Given the description of an element on the screen output the (x, y) to click on. 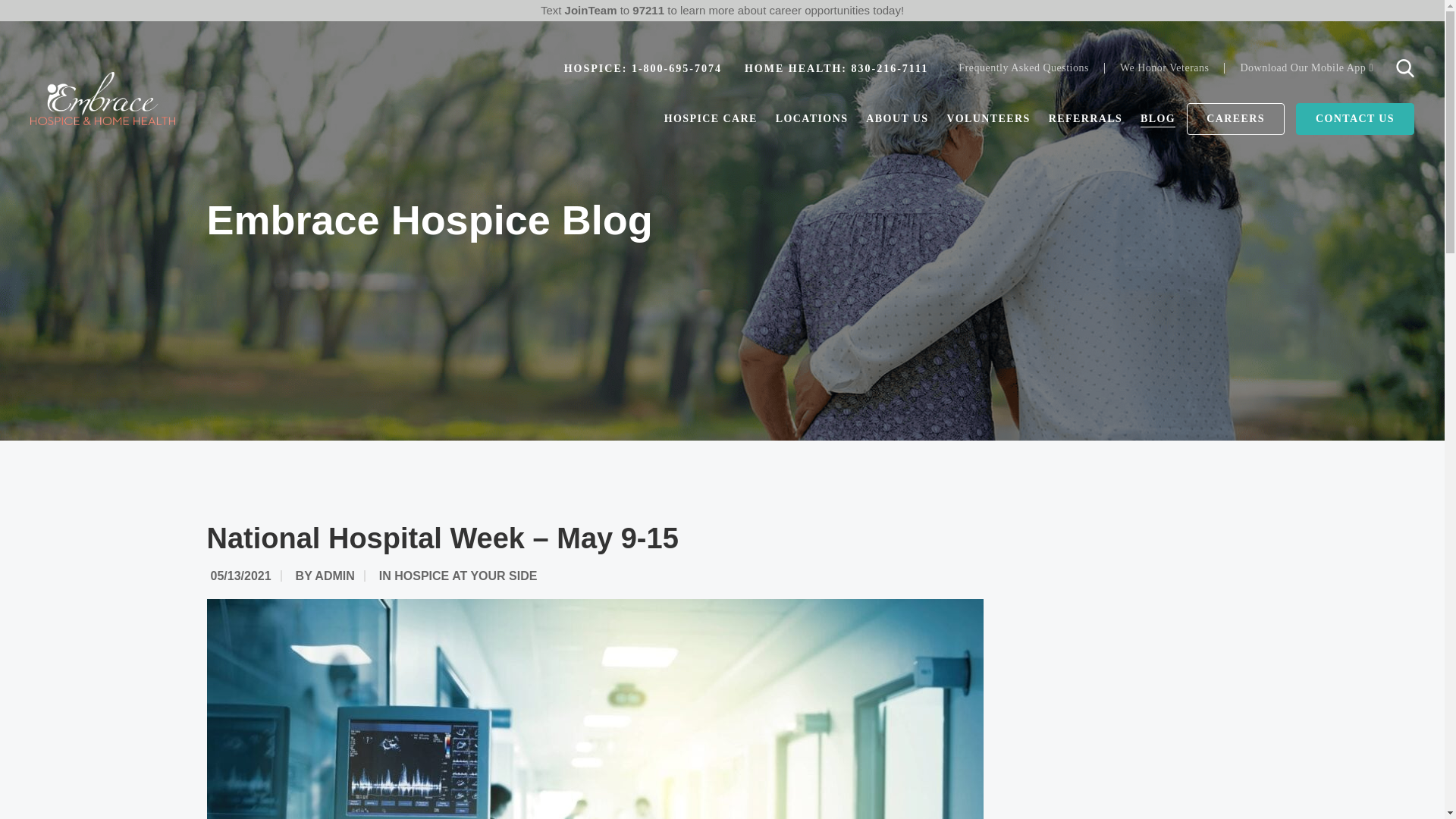
We Honor Veterans (1164, 68)
LOCATIONS (812, 118)
CAREERS (1235, 119)
VOLUNTEERS (987, 118)
HOSPICE CARE (710, 118)
CONTACT US (1354, 119)
ABOUT US (897, 118)
HOME HEALTH: 830-216-7111 (836, 67)
BLOG (1157, 118)
REFERRALS (1085, 118)
Download Our Mobile App (1305, 68)
Frequently Asked Questions (1023, 68)
HOSPICE: 1-800-695-7074 (643, 67)
